Given the description of an element on the screen output the (x, y) to click on. 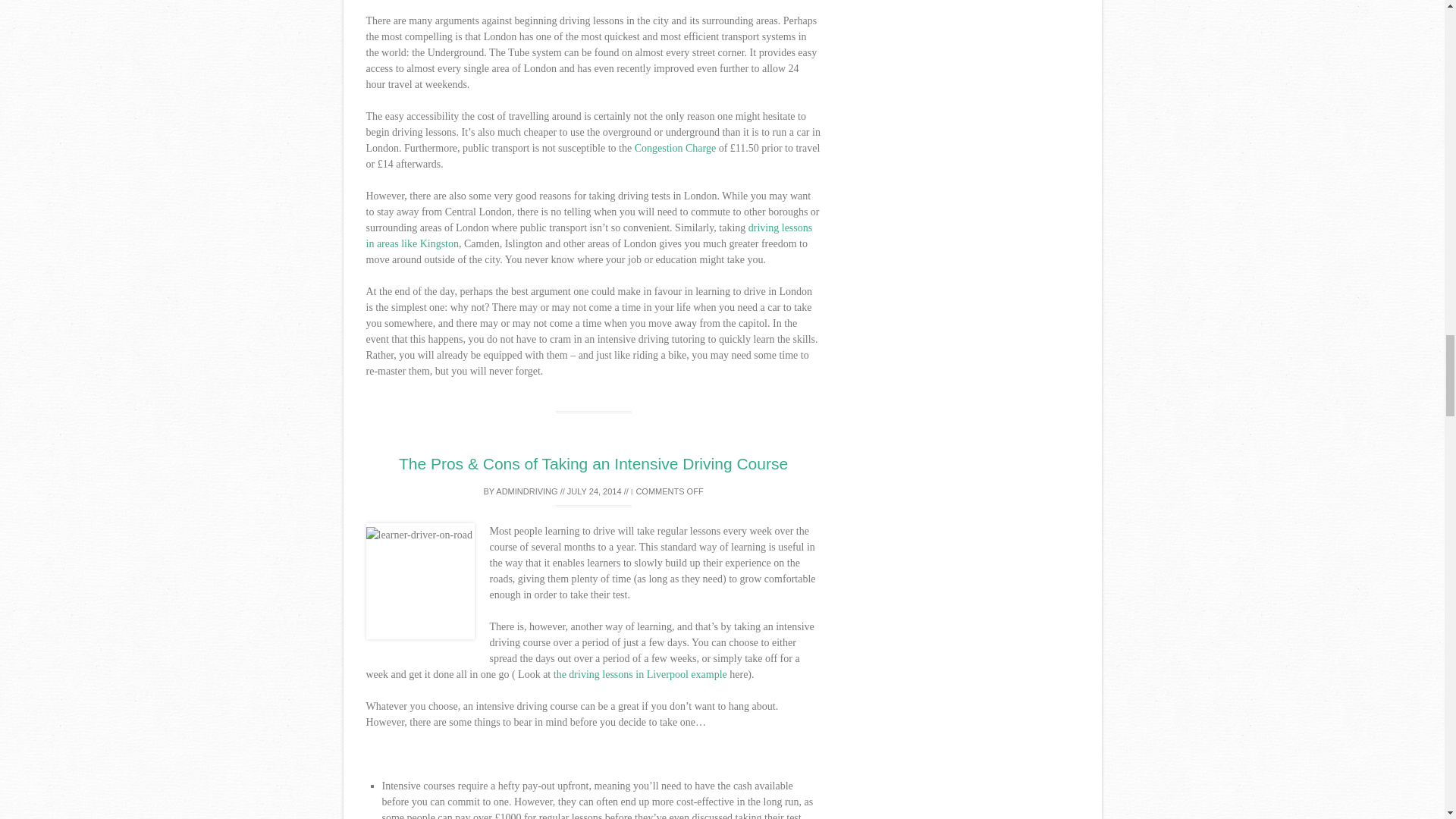
ADMINDRIVING (526, 491)
COMMENTS OFF (666, 491)
JULY 24, 2014 (594, 491)
View all posts by admindriving (526, 491)
driving lessons in areas like Kingston (588, 235)
9:11 am (594, 491)
Congestion Charge (675, 147)
the driving lessons in Liverpool example (638, 674)
